Given the description of an element on the screen output the (x, y) to click on. 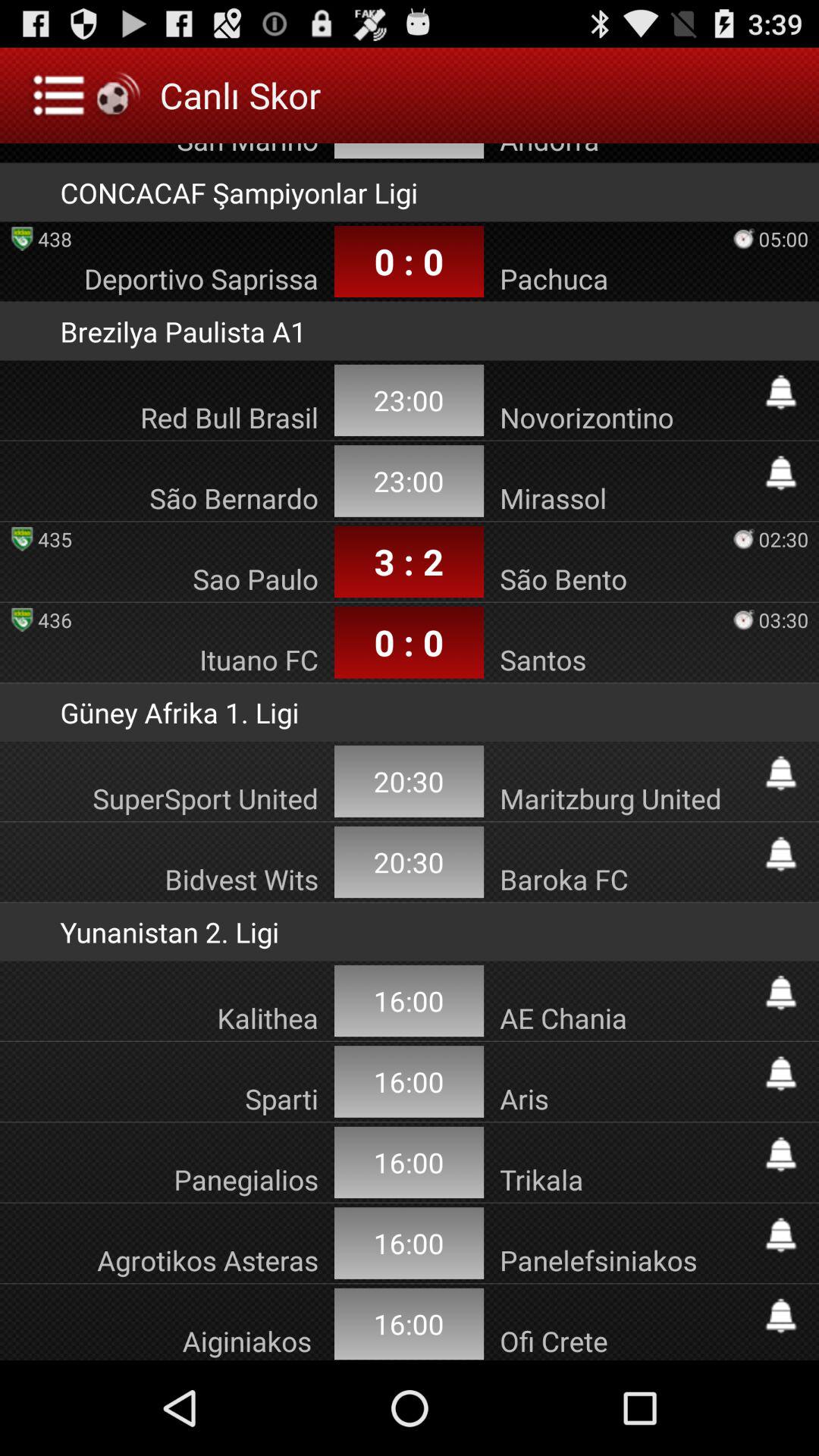
tap notification optiion (780, 1073)
